Given the description of an element on the screen output the (x, y) to click on. 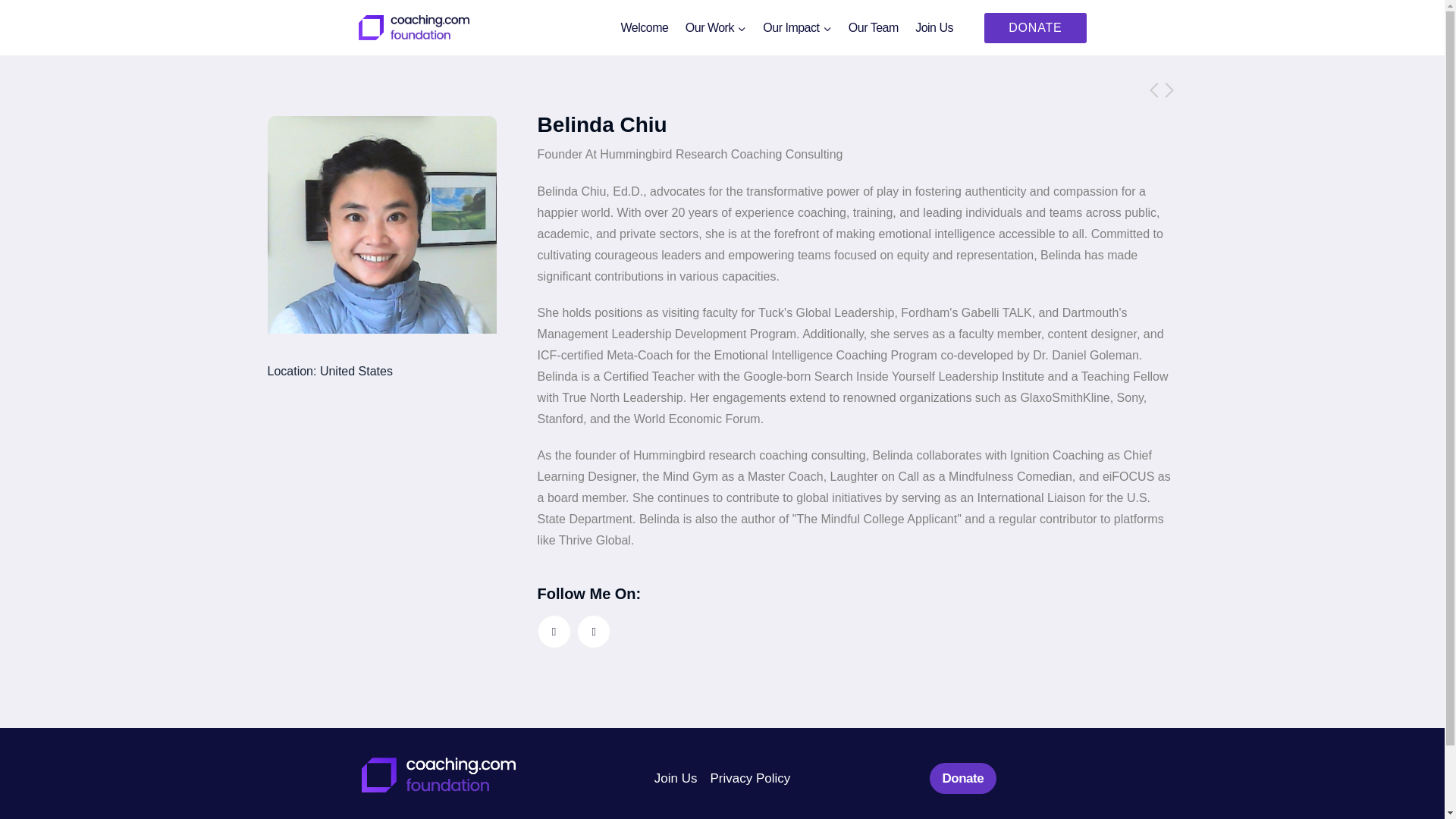
Our Work (716, 27)
Our Impact (797, 27)
Donate (963, 777)
Our Team (873, 27)
Welcome (644, 27)
Privacy Policy (749, 777)
Join Us (675, 777)
DONATE (1035, 27)
Join Us (933, 27)
